Given the description of an element on the screen output the (x, y) to click on. 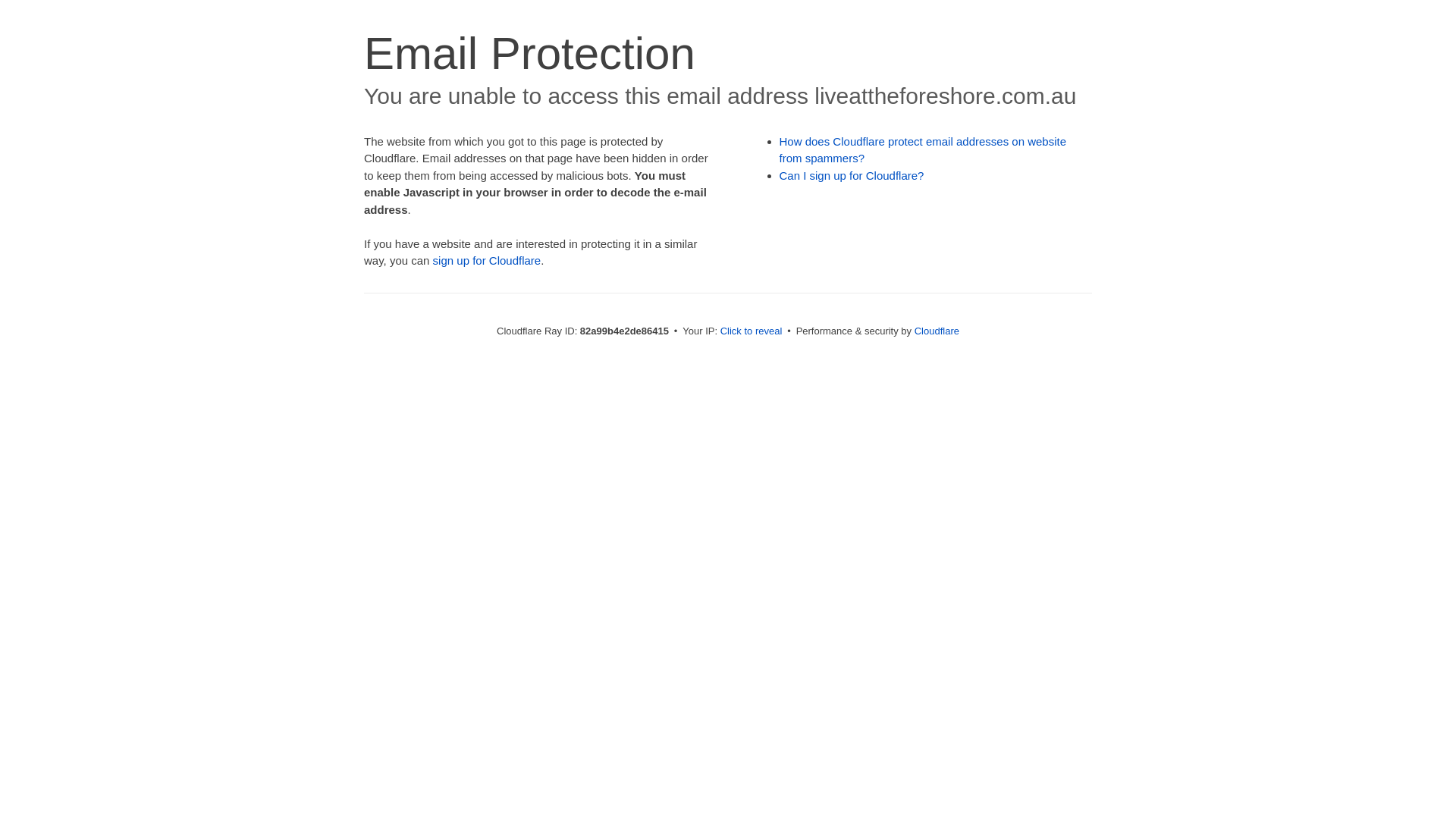
Cloudflare Element type: text (936, 330)
sign up for Cloudflare Element type: text (487, 260)
Click to reveal Element type: text (751, 330)
Can I sign up for Cloudflare? Element type: text (851, 175)
